Given the description of an element on the screen output the (x, y) to click on. 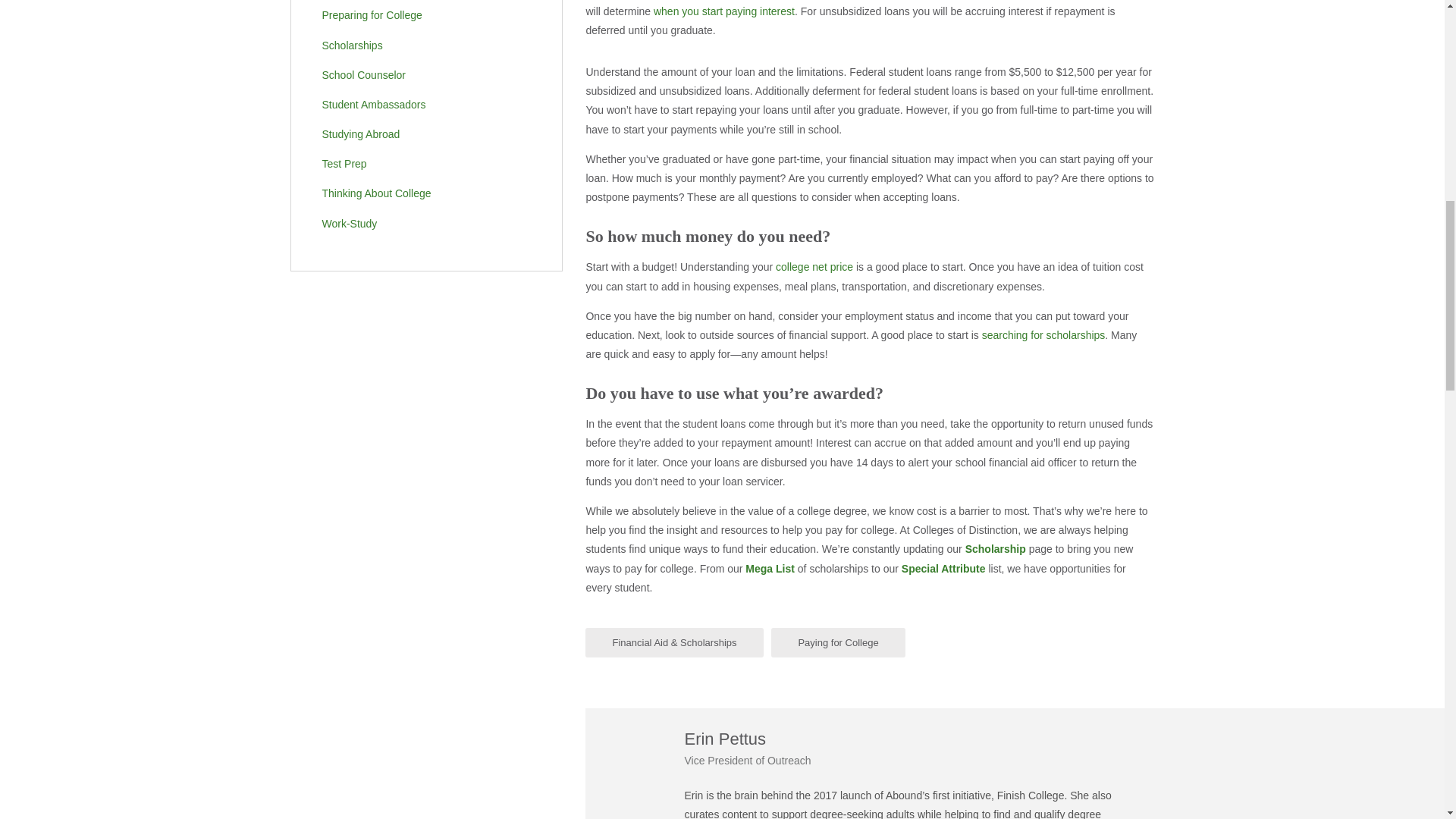
Preparing for College (415, 15)
Studying Abroad (415, 134)
Student Ambassadors (415, 104)
Thinking About College (415, 193)
Test Prep (415, 163)
Scholarships (415, 45)
School Counselor (415, 75)
